Given the description of an element on the screen output the (x, y) to click on. 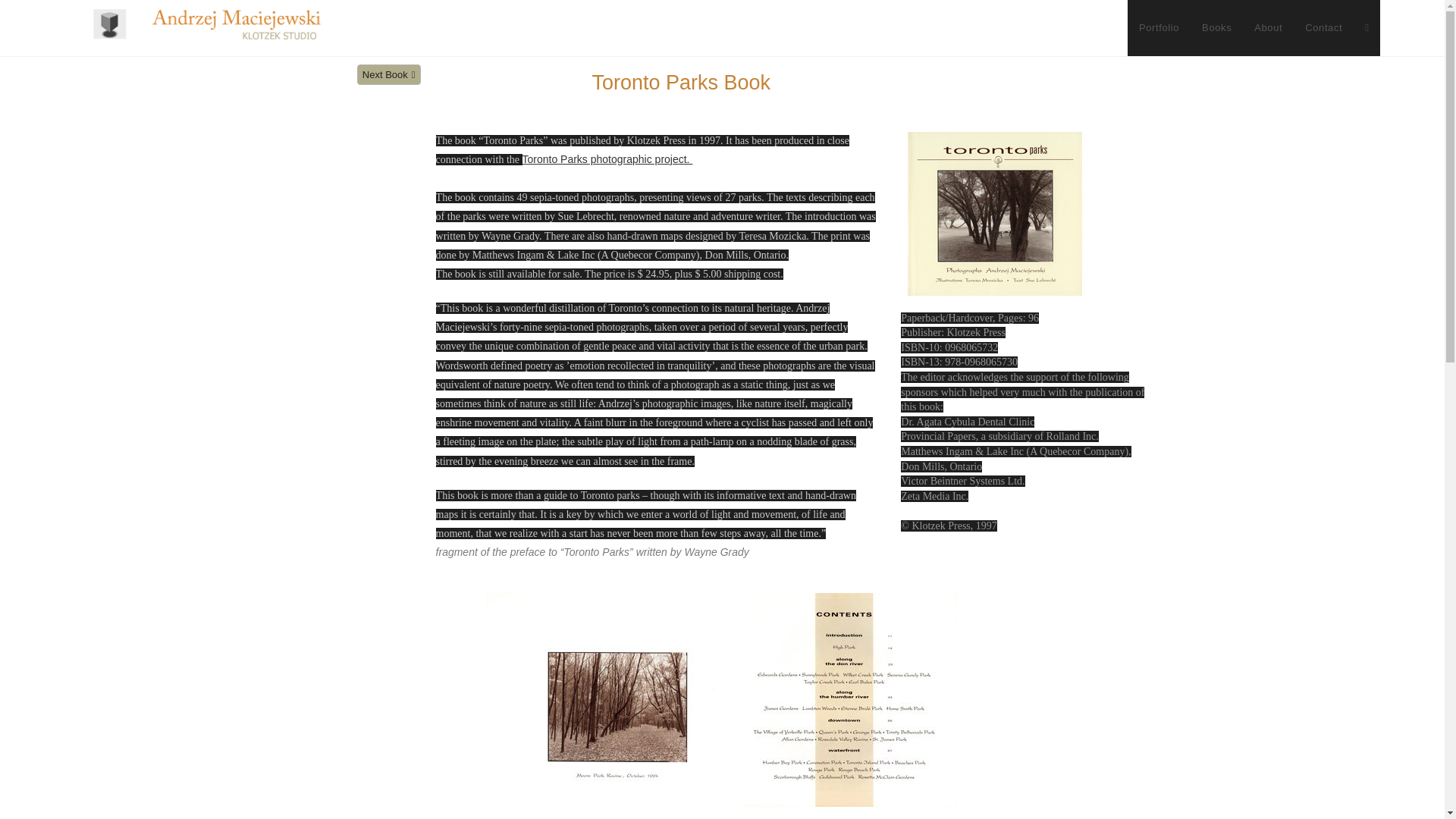
Contact (1324, 28)
Books (1217, 28)
Next Book (388, 74)
Toronto Parks photographic project.  (607, 159)
About (1268, 28)
Portfolio (1158, 28)
